Given the description of an element on the screen output the (x, y) to click on. 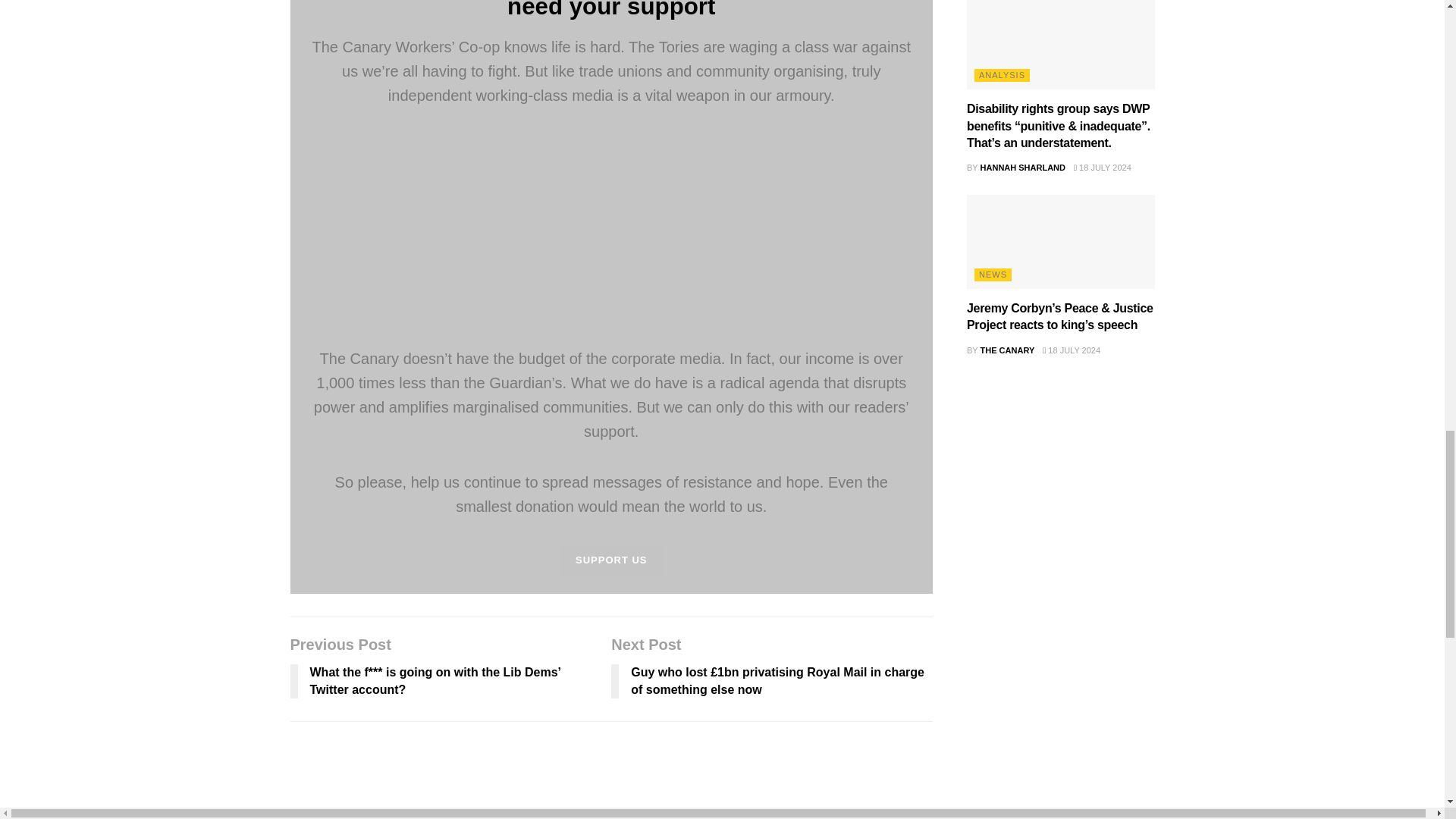
Advertisement (610, 240)
